Given the description of an element on the screen output the (x, y) to click on. 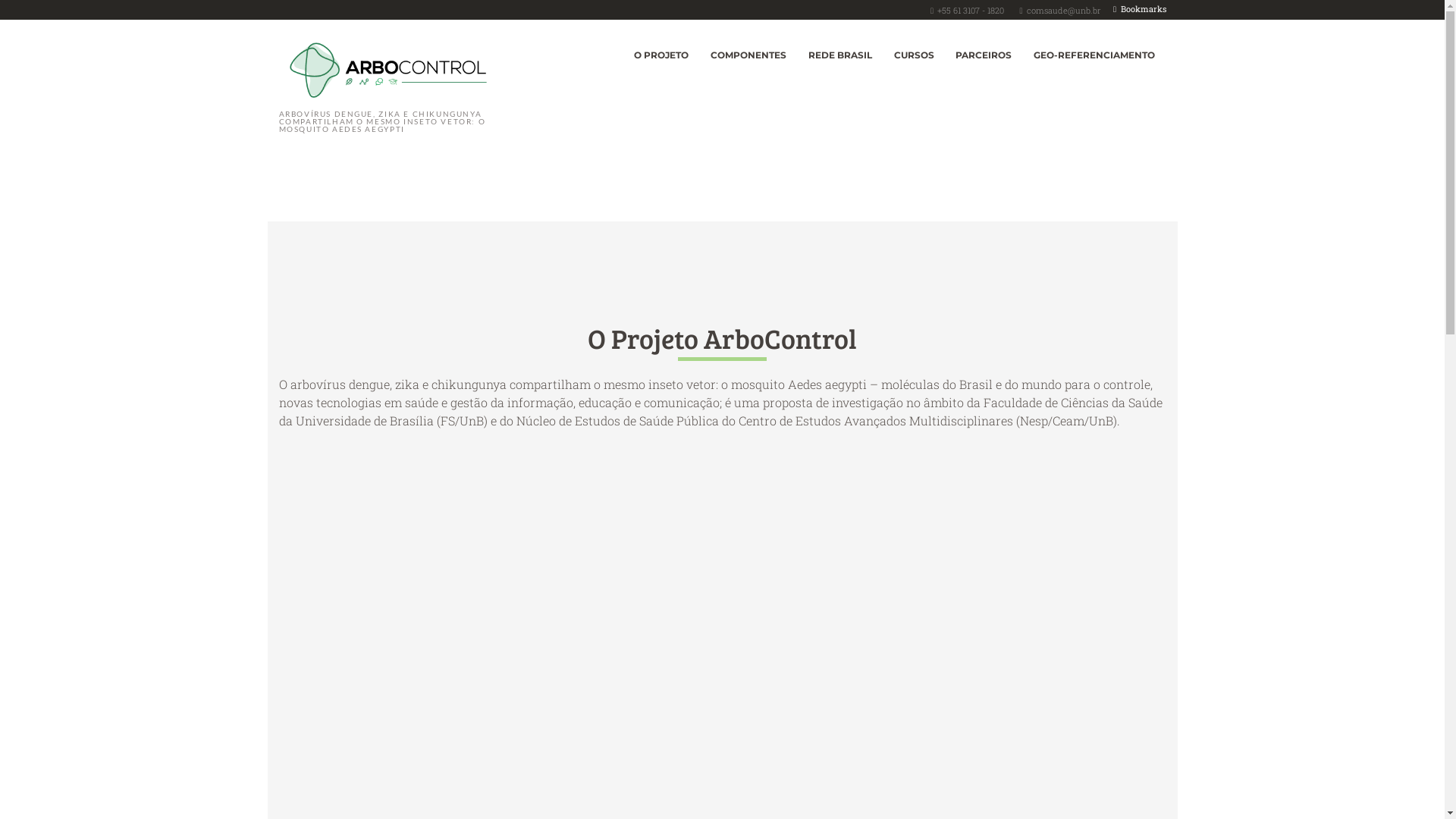
COMPONENTES Element type: text (748, 55)
comsaude@unb.br Element type: text (1063, 9)
Bookmarks Element type: text (1139, 9)
O PROJETO Element type: text (661, 55)
GEO-REFERENCIAMENTO Element type: text (1094, 55)
CURSOS Element type: text (913, 55)
+55 61 3107 - 1820 Element type: text (970, 9)
PARCEIROS Element type: text (983, 55)
REDE BRASIL Element type: text (839, 55)
